Given the description of an element on the screen output the (x, y) to click on. 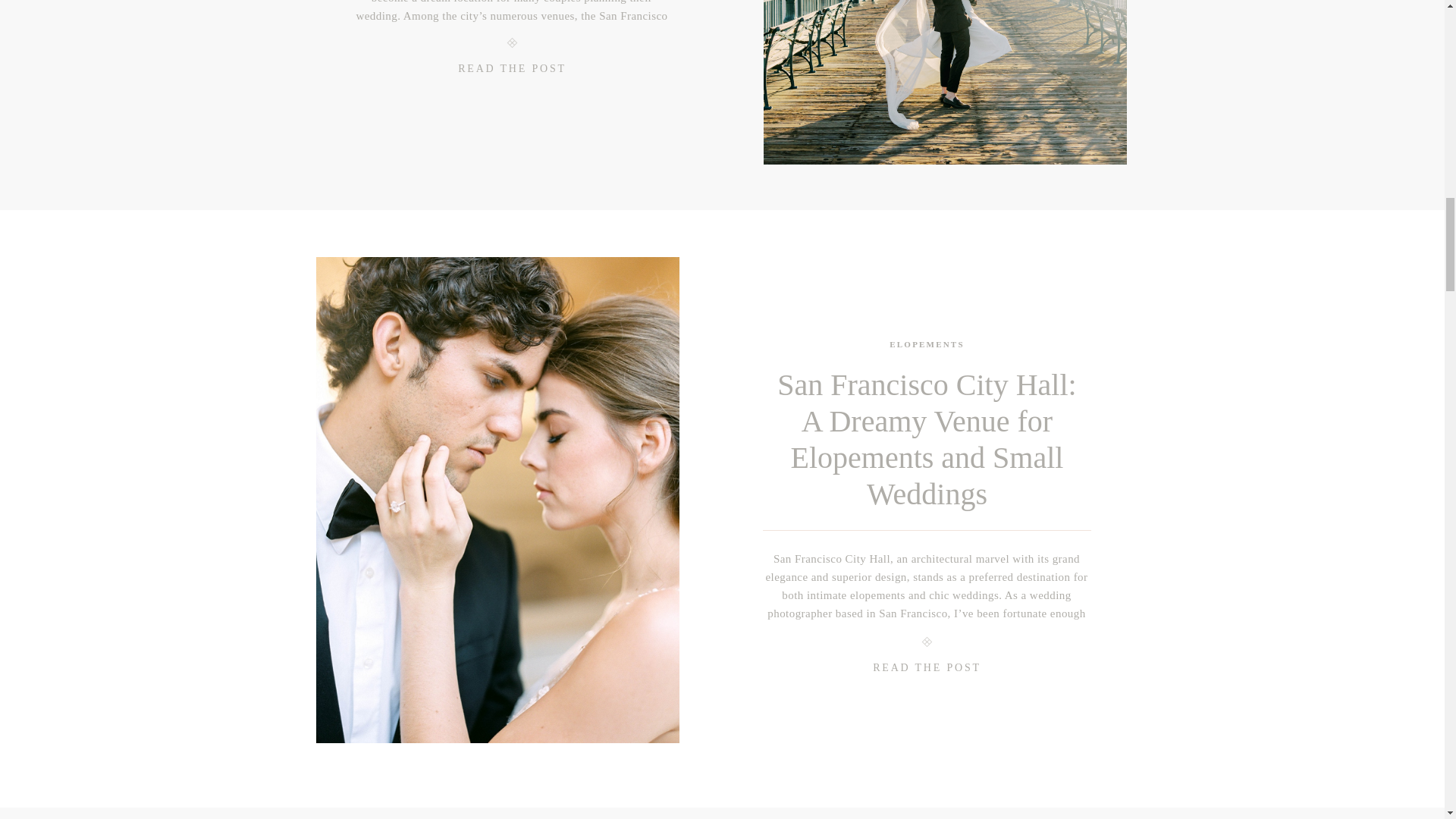
ELOPEMENTS (926, 343)
SF City Hall Wedding: A San Francisco Love Story (943, 82)
SF City Hall Wedding: A San Francisco Love Story (513, 72)
READ THE POST (513, 72)
READ THE POST (926, 671)
